Given the description of an element on the screen output the (x, y) to click on. 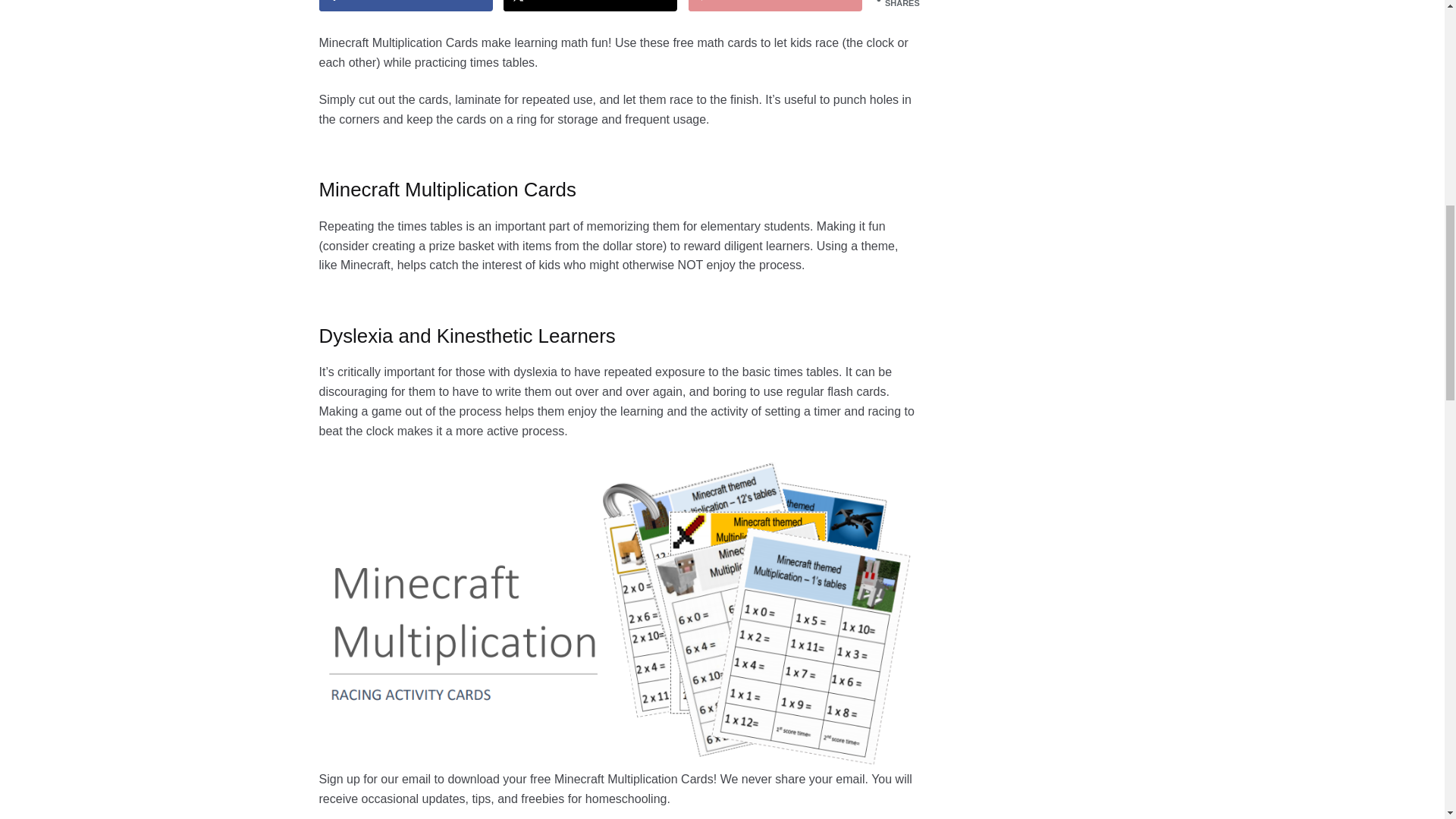
Tweet (590, 5)
Pin (774, 5)
Share on Facebook (405, 5)
Share (405, 5)
Save to Pinterest (774, 5)
Share on X (590, 5)
